Given the description of an element on the screen output the (x, y) to click on. 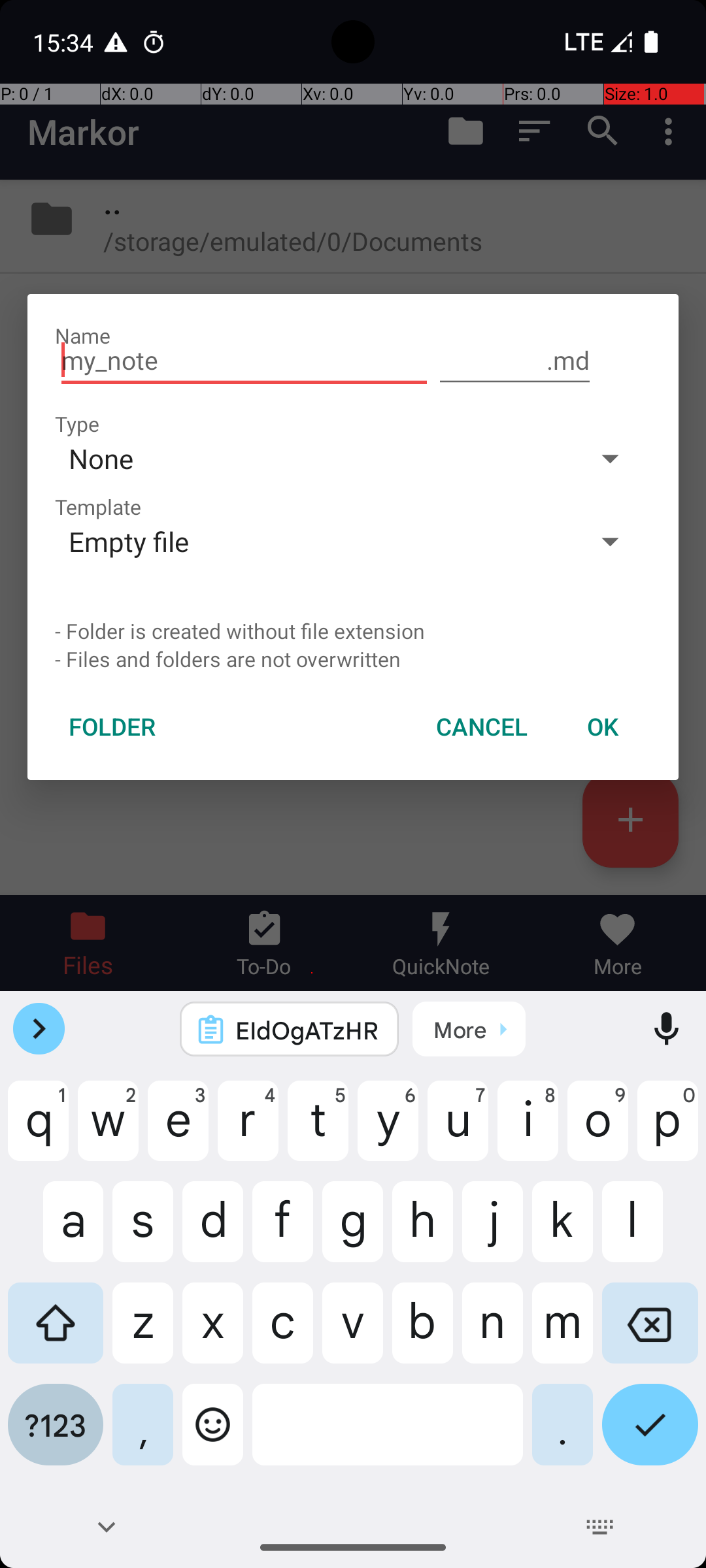
my_note Element type: android.widget.EditText (243, 360)
.md Element type: android.widget.EditText (514, 360)
Type Element type: android.widget.TextView (76, 423)
Template Element type: android.widget.TextView (97, 506)
- Folder is created without file extension Element type: android.widget.TextView (352, 630)
- Files and folders are not overwritten Element type: android.widget.TextView (352, 658)
FOLDER Element type: android.widget.Button (111, 726)
None Element type: android.widget.TextView (311, 457)
Empty file Element type: android.widget.TextView (311, 540)
EIdOgATzHR Element type: android.widget.TextView (306, 1029)
